Given the description of an element on the screen output the (x, y) to click on. 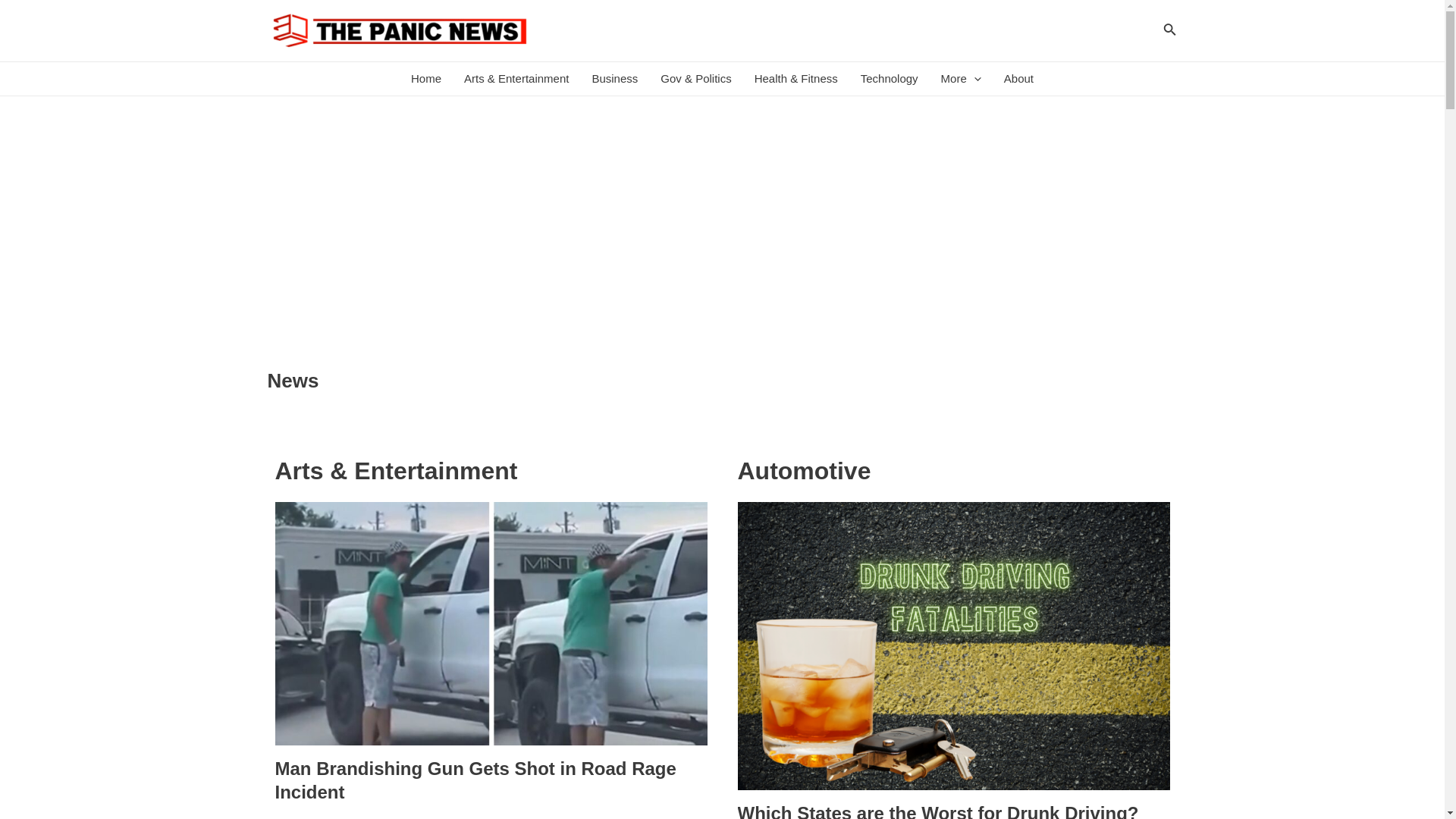
More (961, 78)
Home (425, 78)
Technology (889, 78)
About (1018, 78)
Business (614, 78)
